Given the description of an element on the screen output the (x, y) to click on. 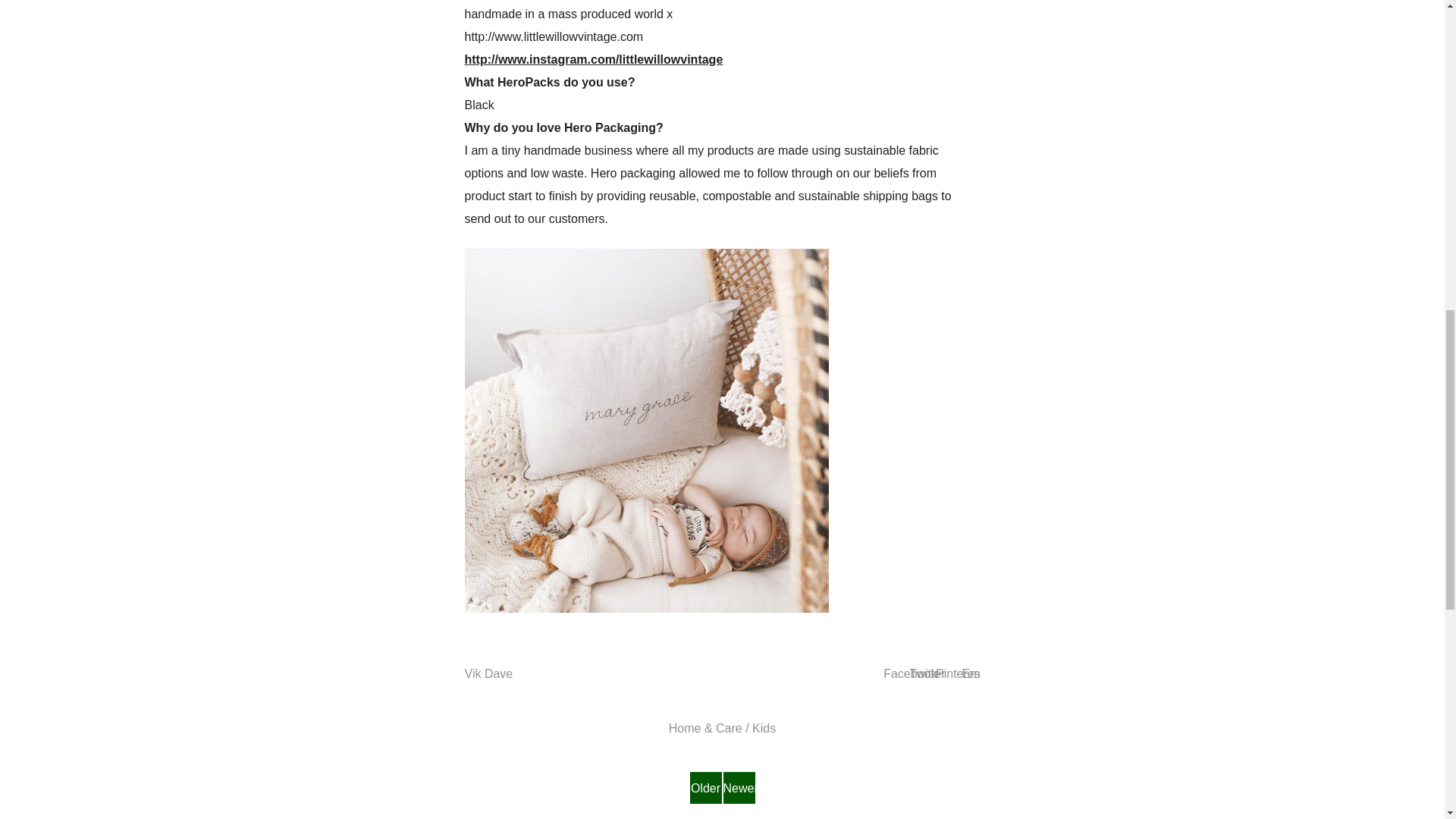
Show articles tagged Kids (764, 727)
